Given the description of an element on the screen output the (x, y) to click on. 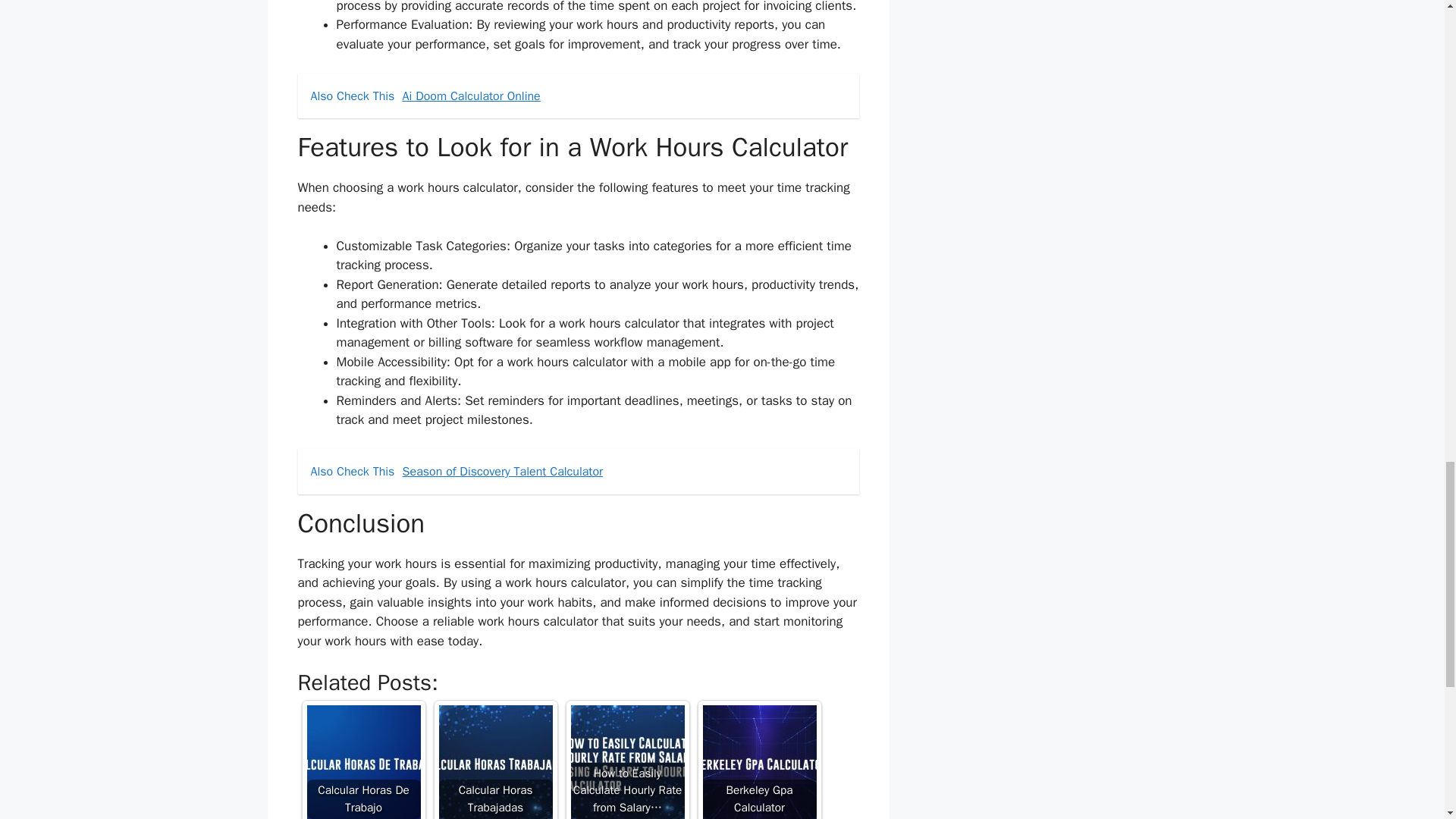
Berkeley Gpa Calculator (758, 762)
Also Check This  Ai Doom Calculator Online (578, 95)
Calcular Horas Trabajadas (494, 762)
Calcular Horas De Trabajo (362, 762)
Berkeley Gpa Calculator (758, 762)
Also Check This  Season of Discovery Talent Calculator (578, 471)
Calcular Horas De Trabajo (362, 762)
Calcular Horas Trabajadas (494, 762)
